Given the description of an element on the screen output the (x, y) to click on. 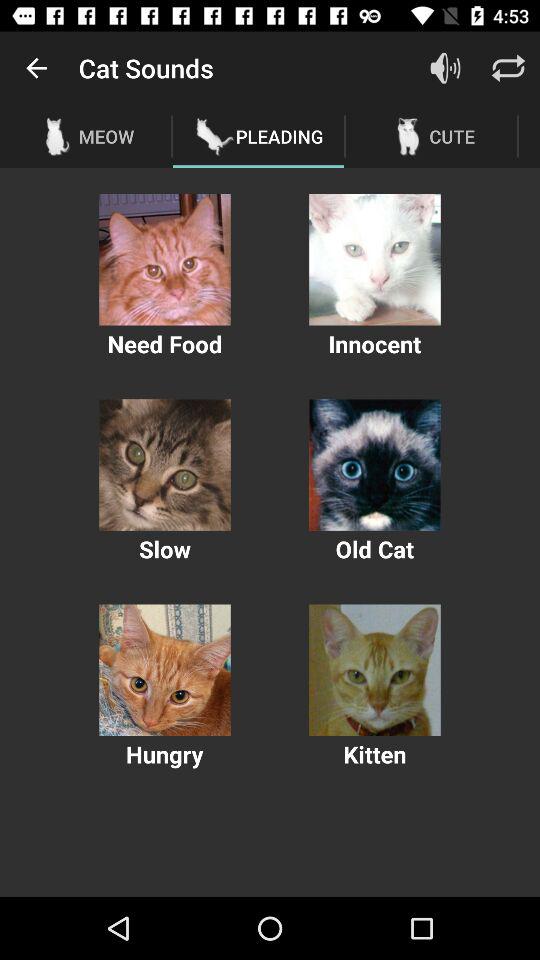
press item to the left of the cat sounds item (36, 68)
